Given the description of an element on the screen output the (x, y) to click on. 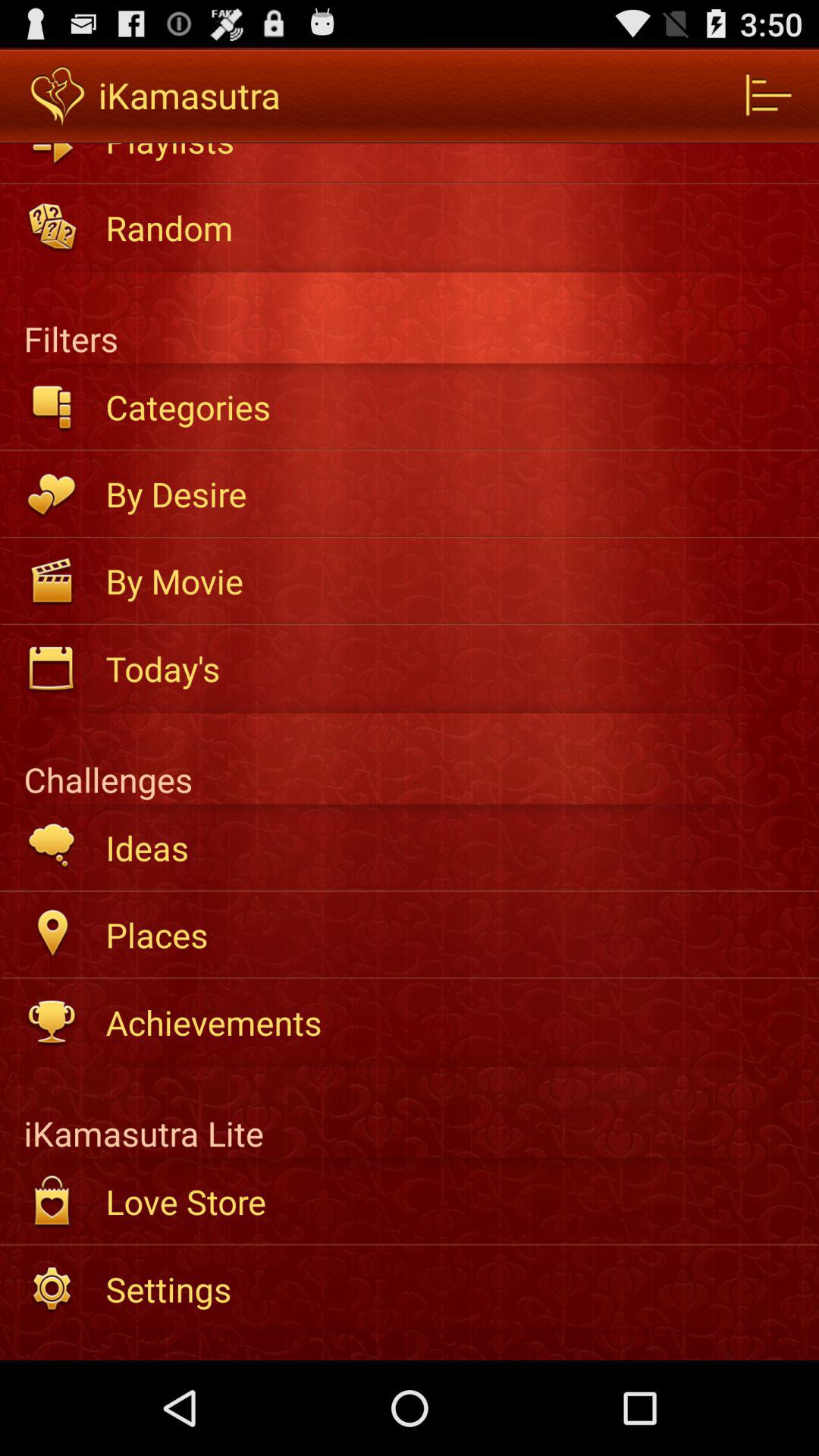
open the item above by movie app (452, 493)
